Given the description of an element on the screen output the (x, y) to click on. 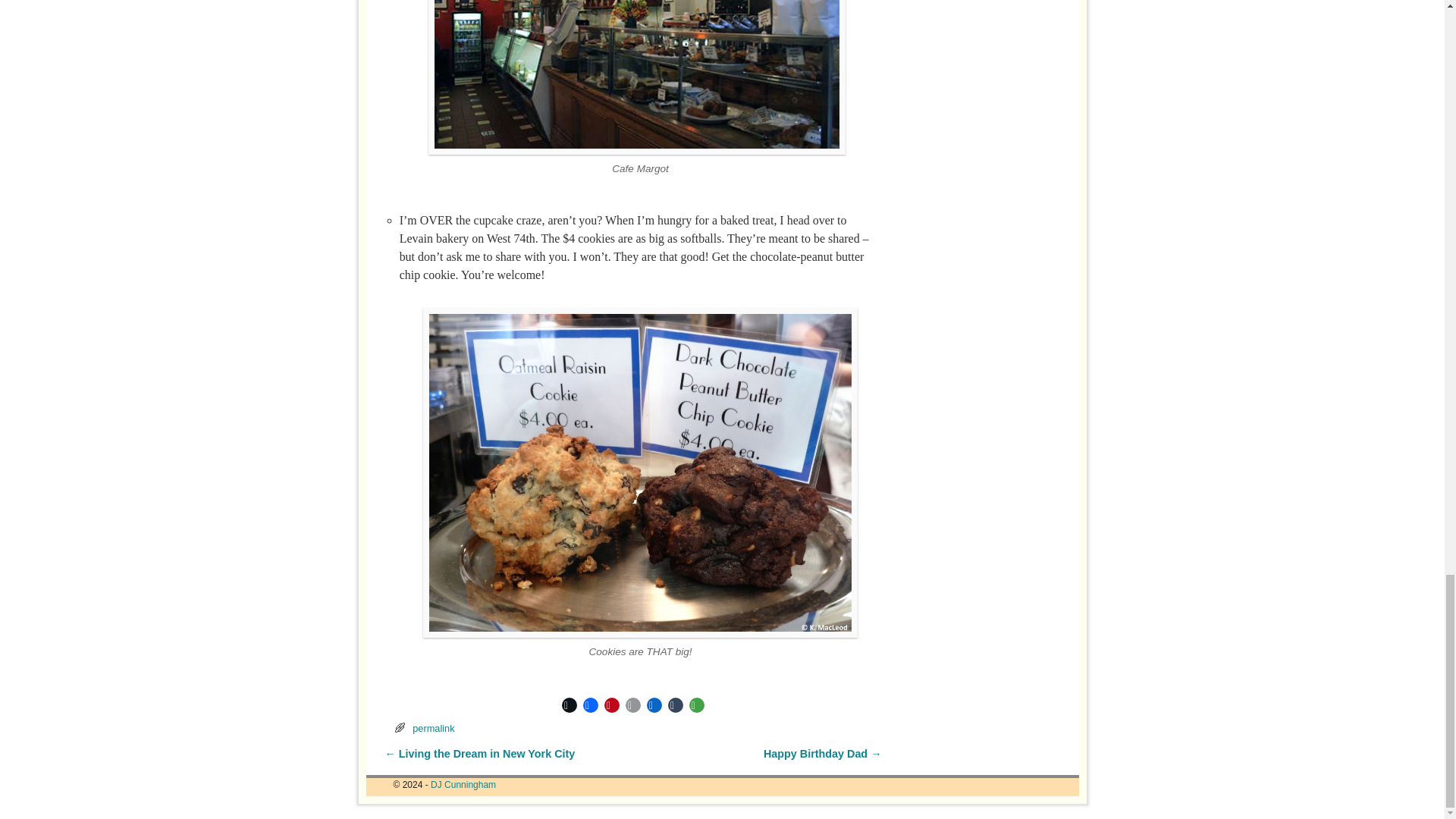
LinkedIn (654, 704)
Permalink to Hidden Gems on the Upper West Side (433, 727)
Facebook (590, 704)
Email This (633, 704)
Tumblr (675, 704)
More Options (696, 704)
Pinterest (612, 704)
